Given the description of an element on the screen output the (x, y) to click on. 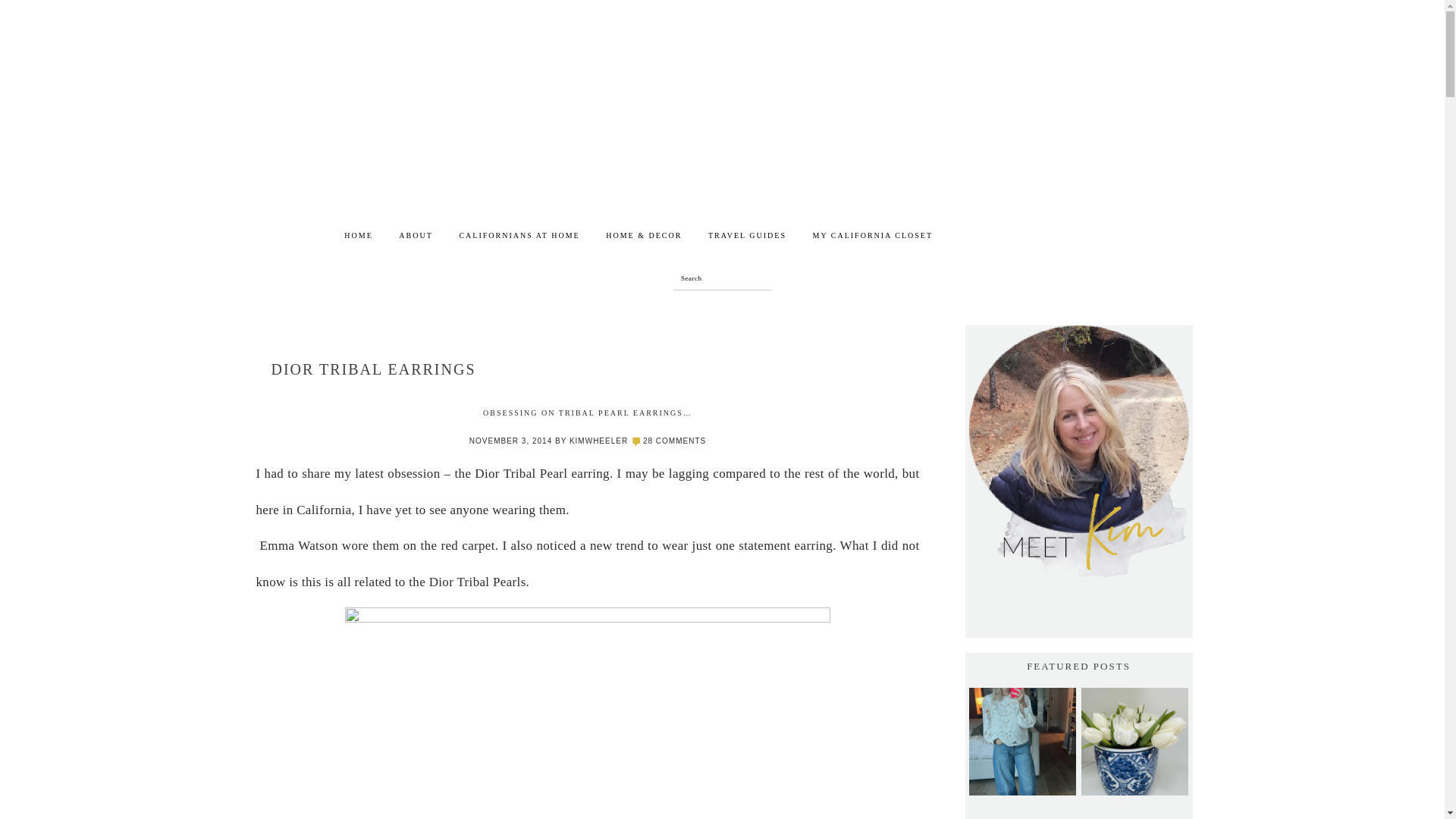
KIMWHEELER (598, 440)
CALIFORNIANS AT HOME (518, 237)
MY CALIFORNIA CLOSET (873, 237)
NORTHERN CALIFORNIA STYLE (683, 208)
TRAVEL GUIDES (747, 237)
HOME (358, 237)
28 COMMENTS (674, 440)
ABOUT (415, 237)
